Given the description of an element on the screen output the (x, y) to click on. 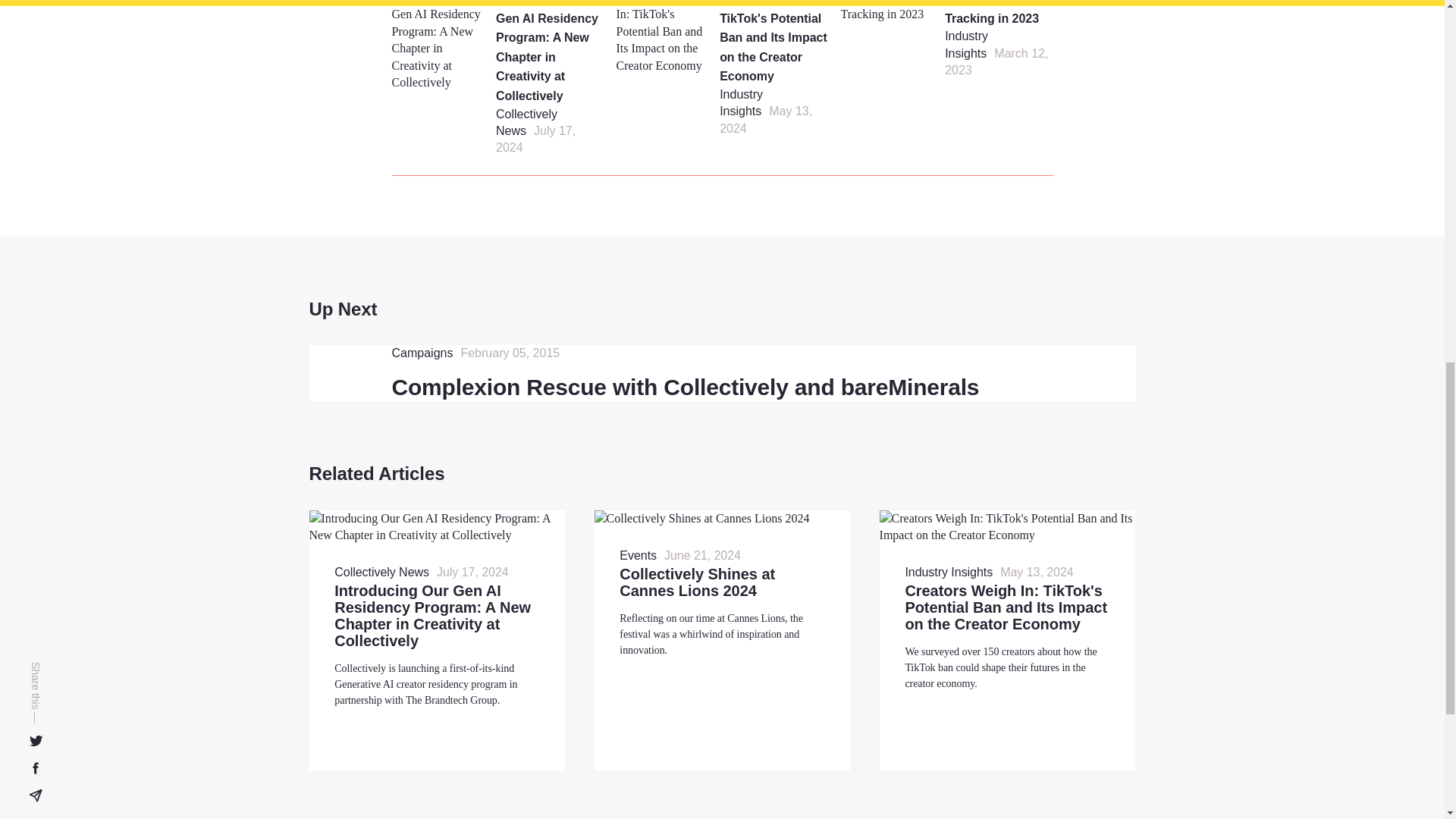
Industry Insights (740, 102)
Collectively News (381, 572)
Events (638, 555)
Industry Insights (966, 43)
Complexion Rescue with Collectively and bareMinerals (684, 386)
Collectively News (526, 122)
Trends We're Tracking in 2023 (991, 12)
Campaigns (421, 352)
